Given the description of an element on the screen output the (x, y) to click on. 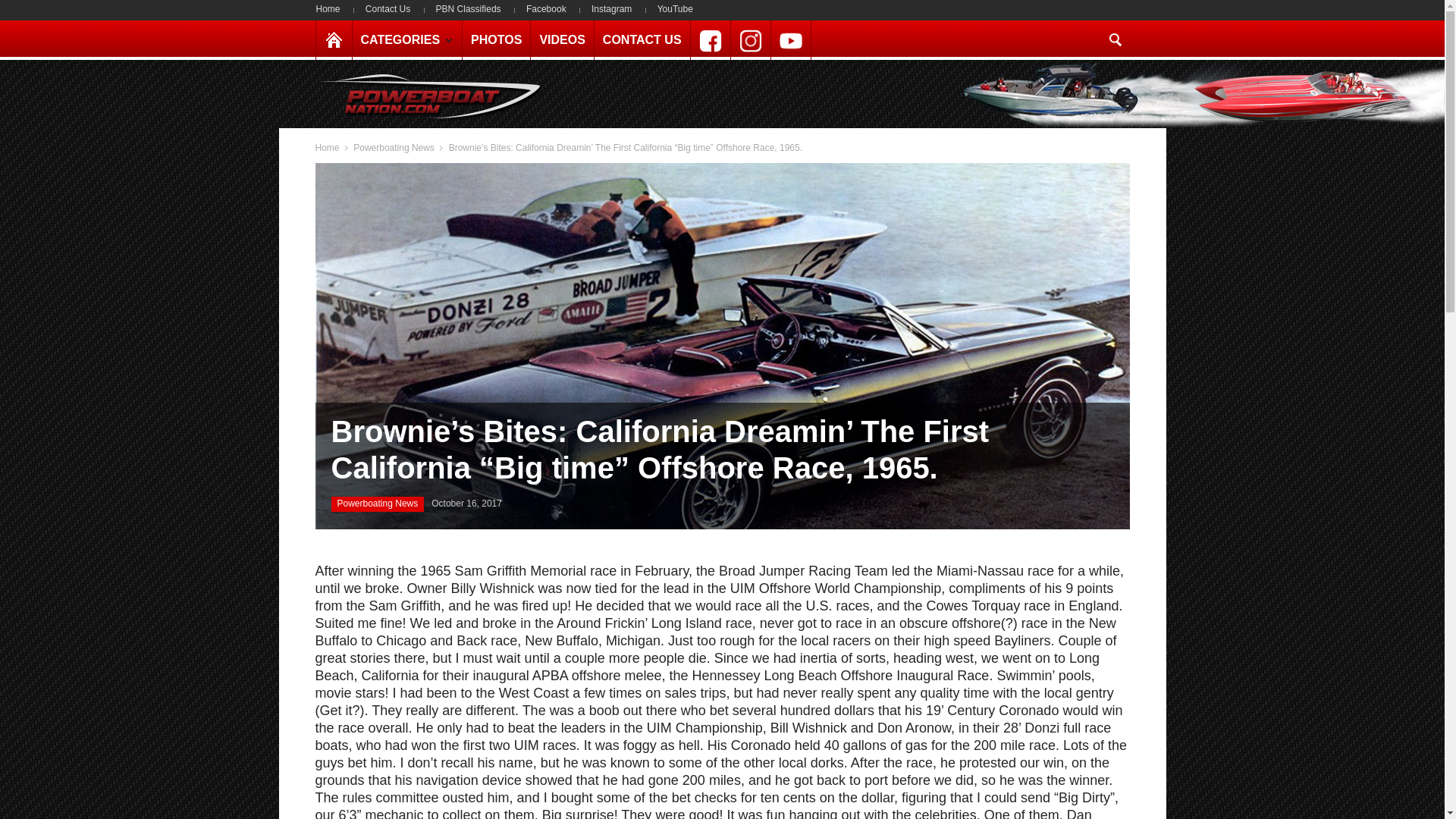
Classifieds (468, 9)
PBN Classifieds (468, 9)
View all posts in Powerboating News (393, 147)
Powerboating News (393, 147)
VIDEOS (561, 39)
Contact Us (387, 9)
CONTACT US (642, 39)
PHOTOS (496, 39)
Home (327, 147)
Home (332, 9)
